Given the description of an element on the screen output the (x, y) to click on. 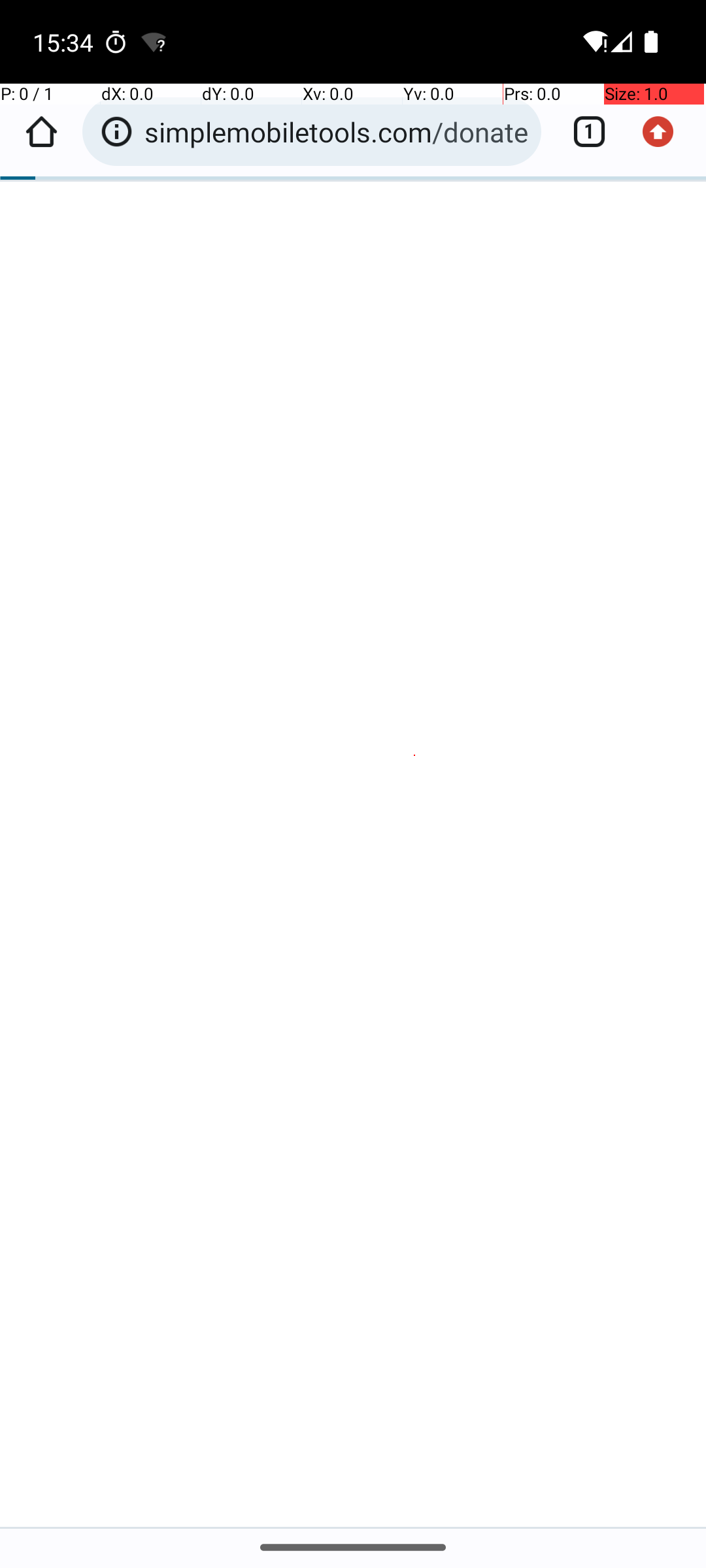
simplemobiletools.com/donate#paypal Element type: android.widget.EditText (335, 131)
Update available. More options Element type: android.widget.ImageButton (664, 131)
